Given the description of an element on the screen output the (x, y) to click on. 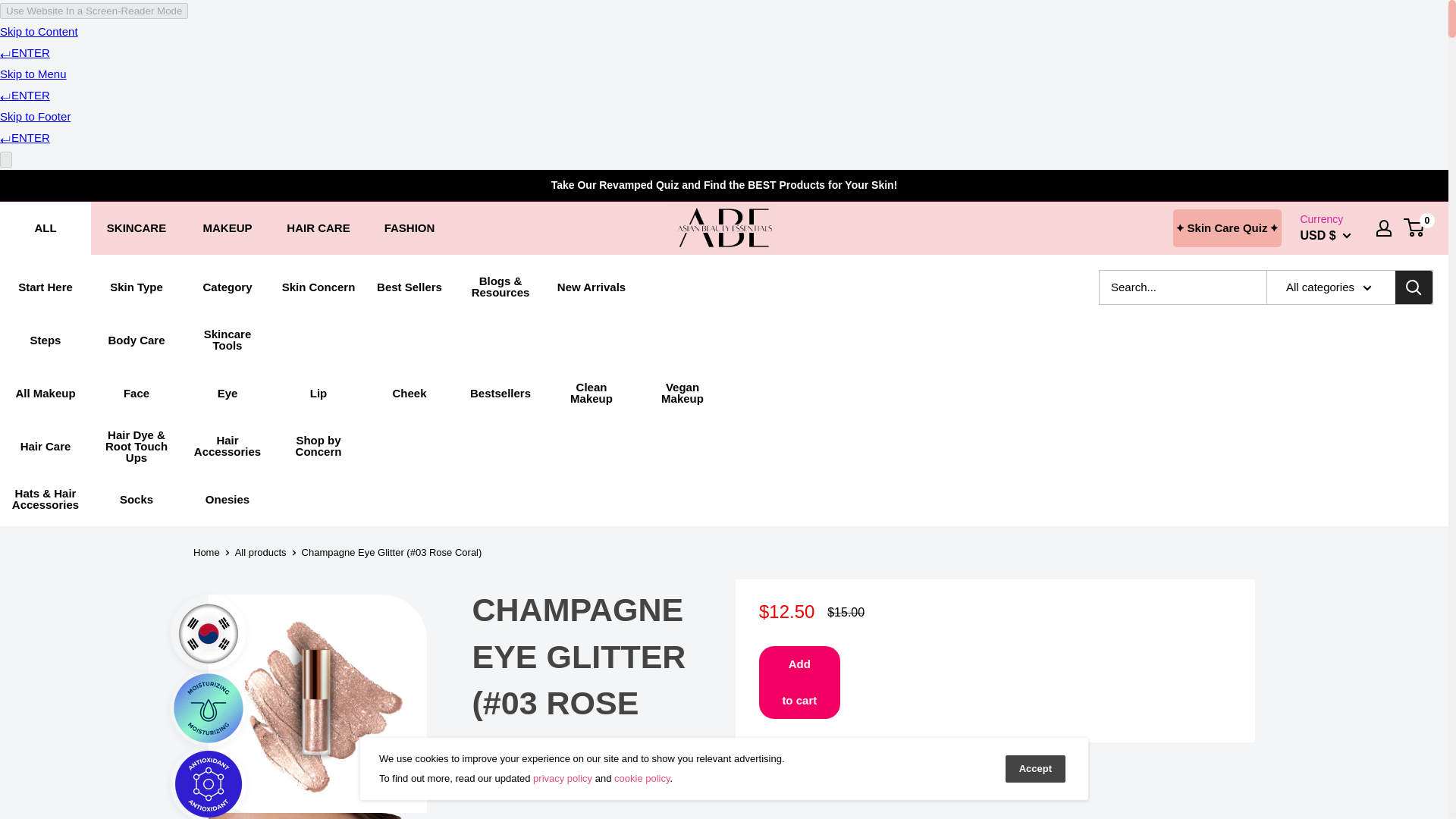
Terms of Service (641, 778)
Privacy Policy (562, 778)
